Given the description of an element on the screen output the (x, y) to click on. 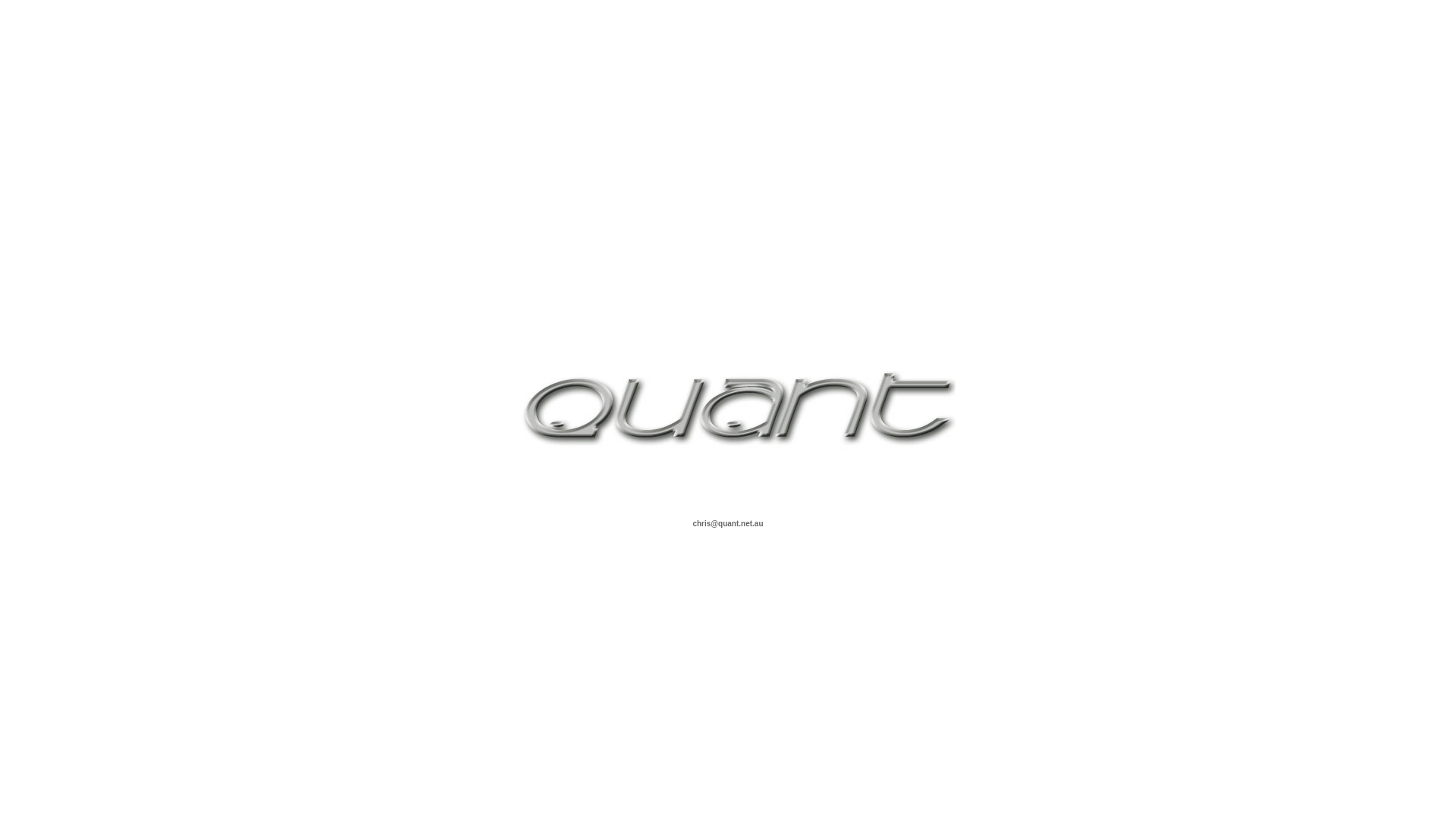
chris@quant.net.au Element type: text (727, 522)
